Given the description of an element on the screen output the (x, y) to click on. 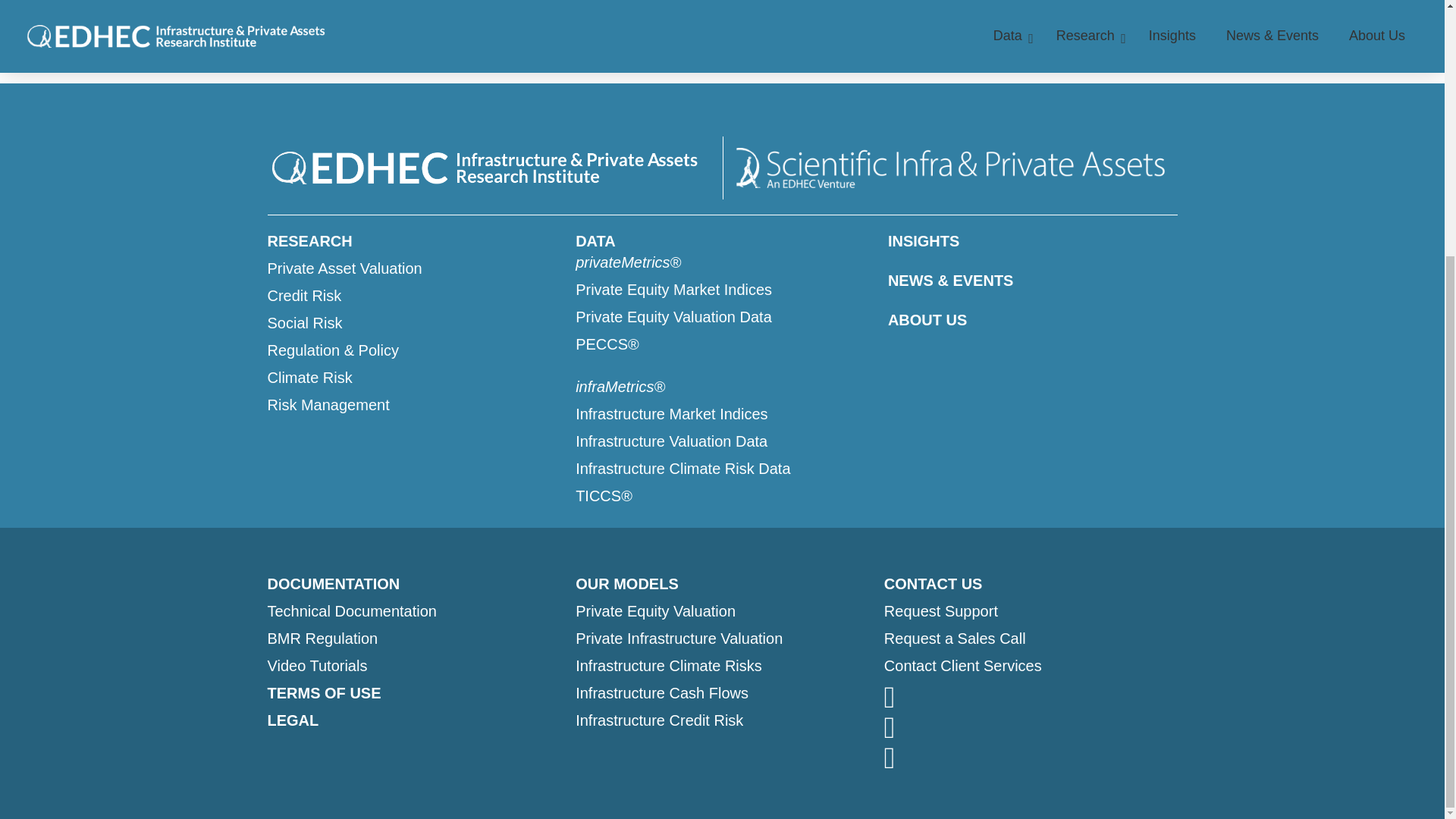
Climate Risk (413, 377)
INSIGHTS (1032, 240)
Technical Documentation (413, 610)
Private Equity Valuation Data (723, 316)
ABOUT US (1032, 319)
Social Risk (413, 322)
Credit Risk (413, 295)
Private Equity Market Indices (723, 289)
Infrastructure Valuation Data (723, 441)
BMR Regulation (413, 638)
Infrastructure Climate Risk Data  (723, 468)
Risk Management (413, 404)
Private Asset Valuation (413, 268)
Infrastructure Market Indices (723, 414)
RESEARCH (413, 240)
